Given the description of an element on the screen output the (x, y) to click on. 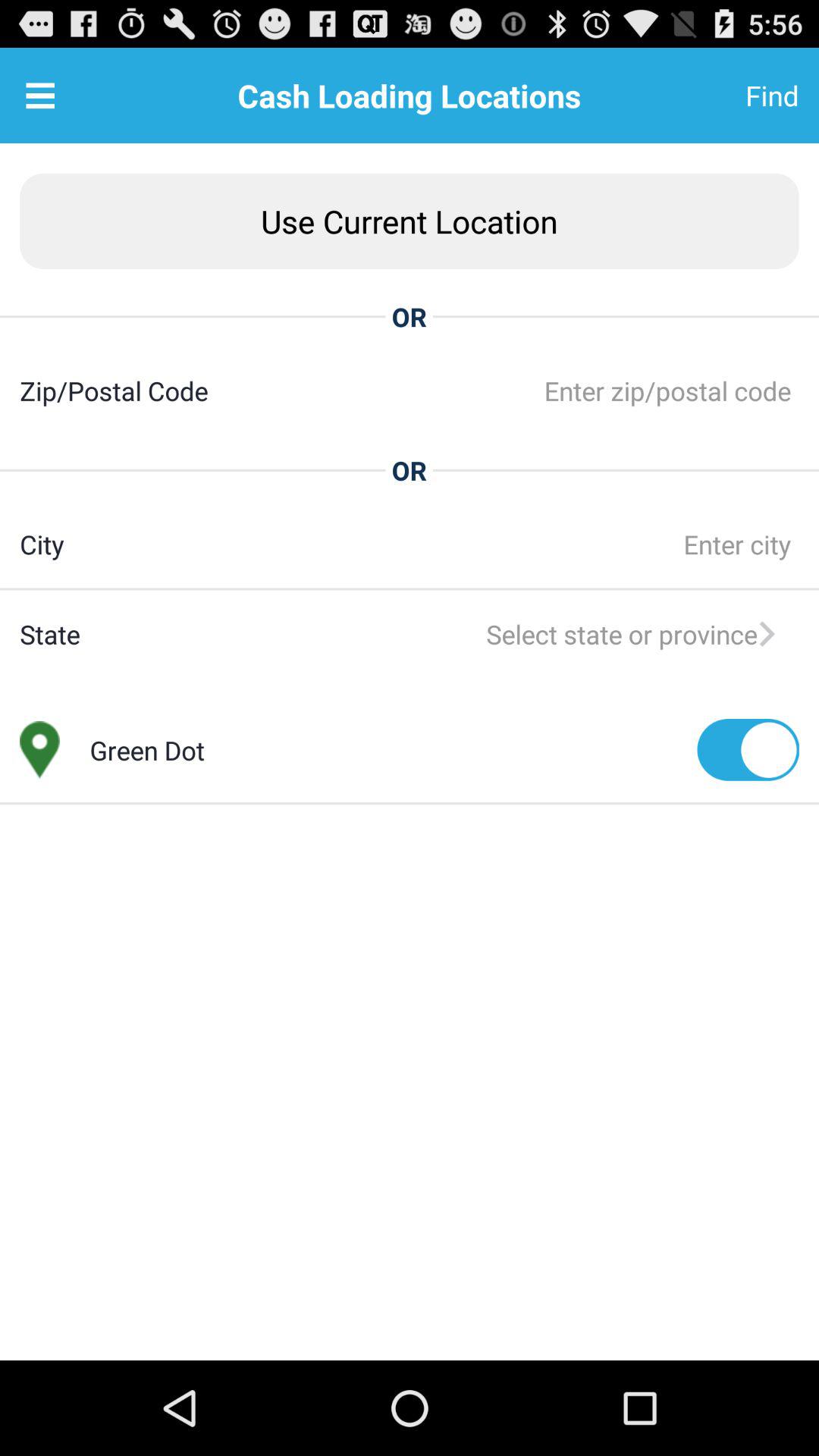
choose item to the left of the cash loading locations (39, 95)
